Given the description of an element on the screen output the (x, y) to click on. 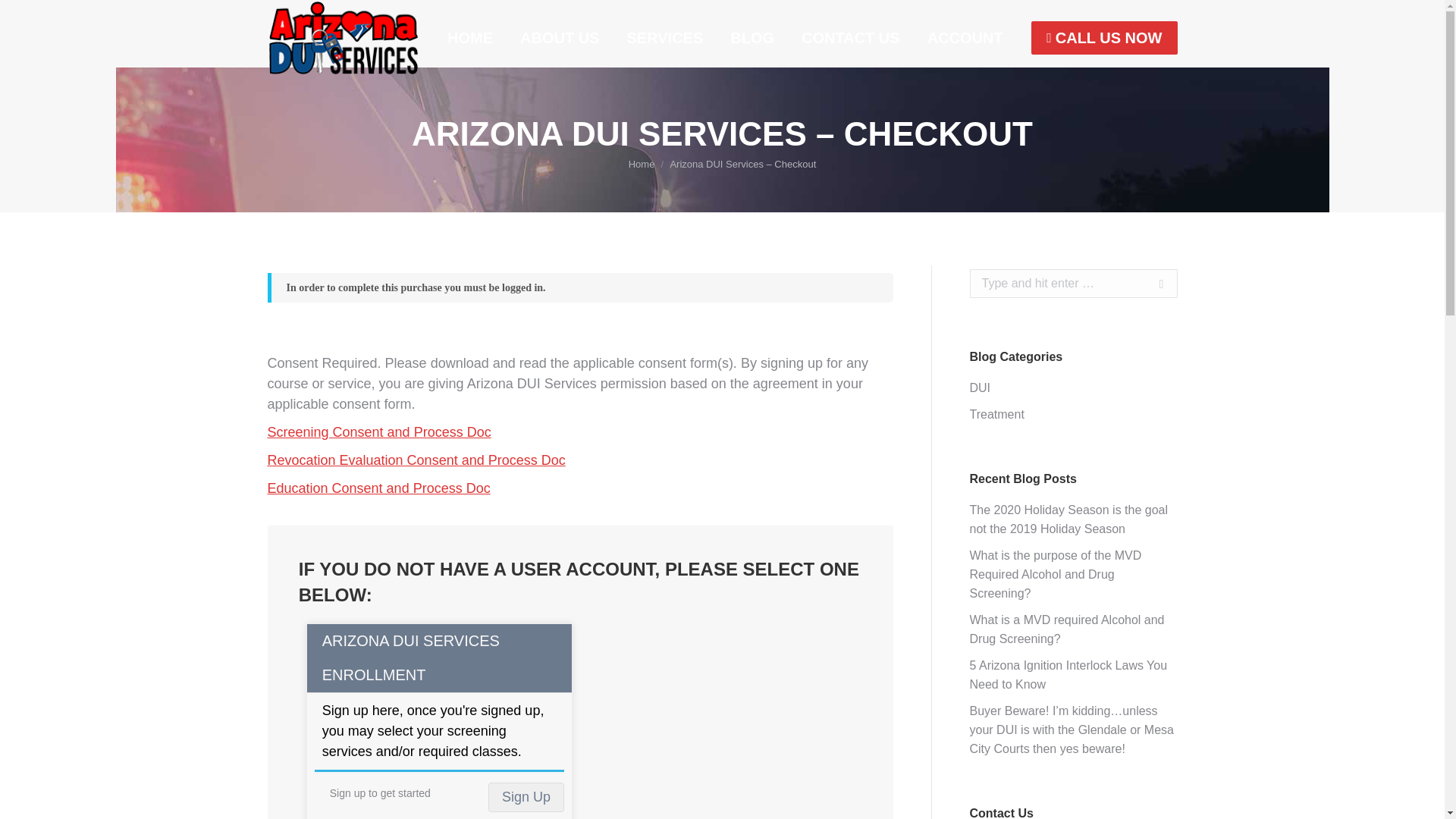
CONTACT US (849, 37)
Home (641, 163)
Go! (1153, 283)
CALL US NOW (1103, 37)
Go! (1153, 283)
ABOUT US (559, 37)
HOME (470, 37)
BLOG (751, 37)
Revocation Evaluation Consent and Process Doc (415, 459)
SERVICES (664, 37)
ACCOUNT (965, 37)
Screening Consent and Process Doc (378, 432)
